Given the description of an element on the screen output the (x, y) to click on. 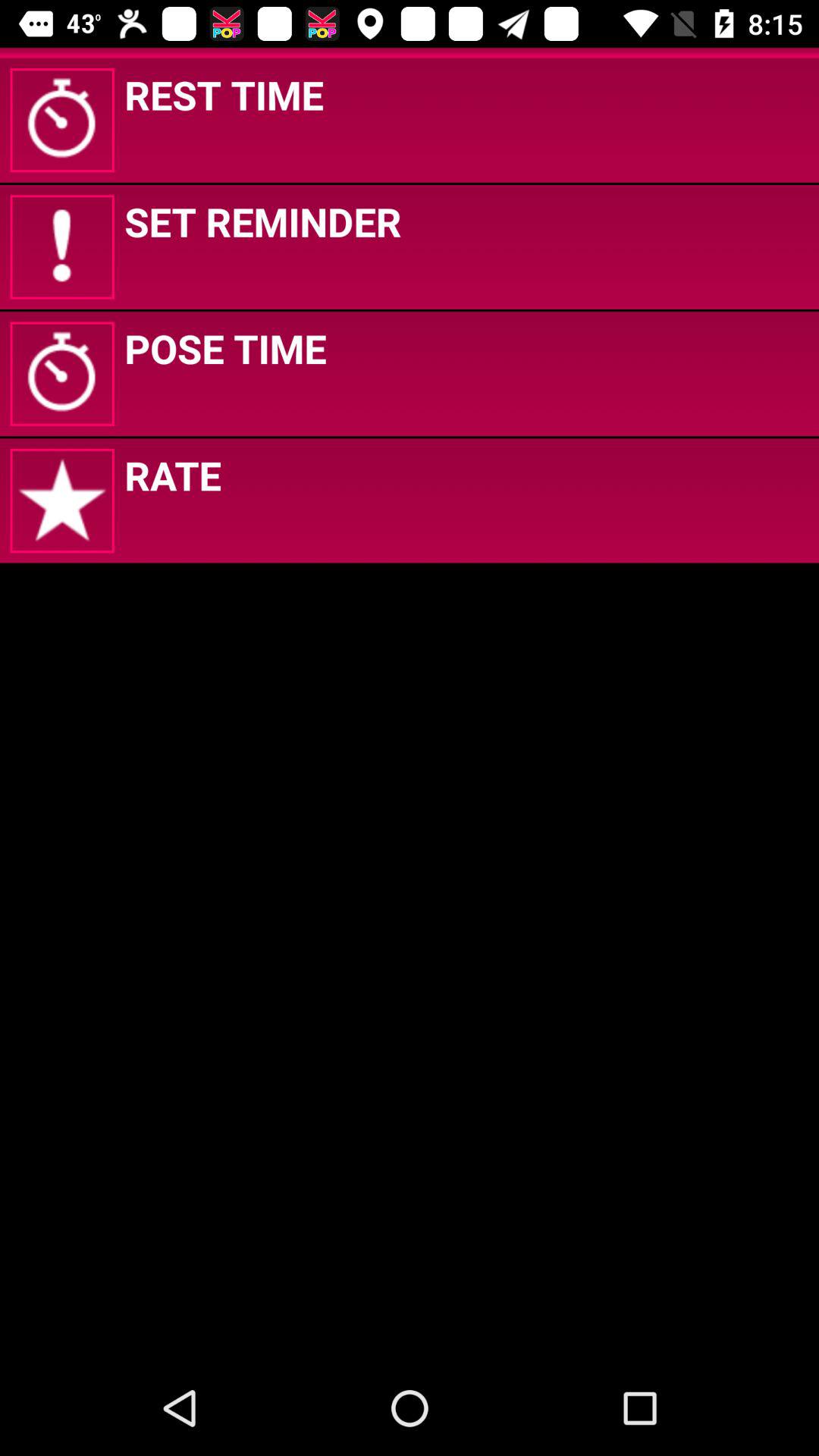
open icon below the pose time (172, 474)
